Given the description of an element on the screen output the (x, y) to click on. 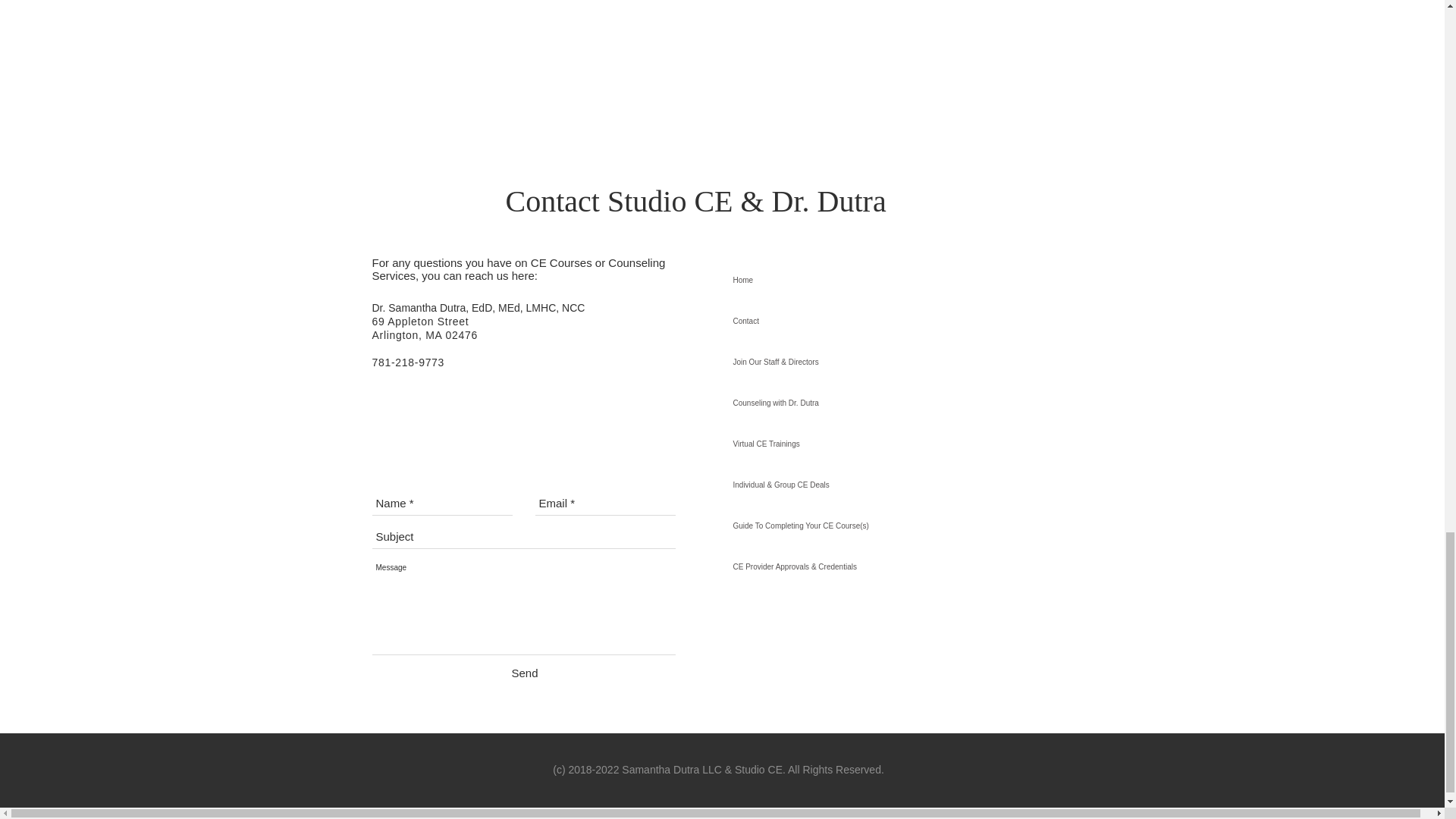
Contact (855, 321)
Send (524, 672)
Home (855, 280)
